Given the description of an element on the screen output the (x, y) to click on. 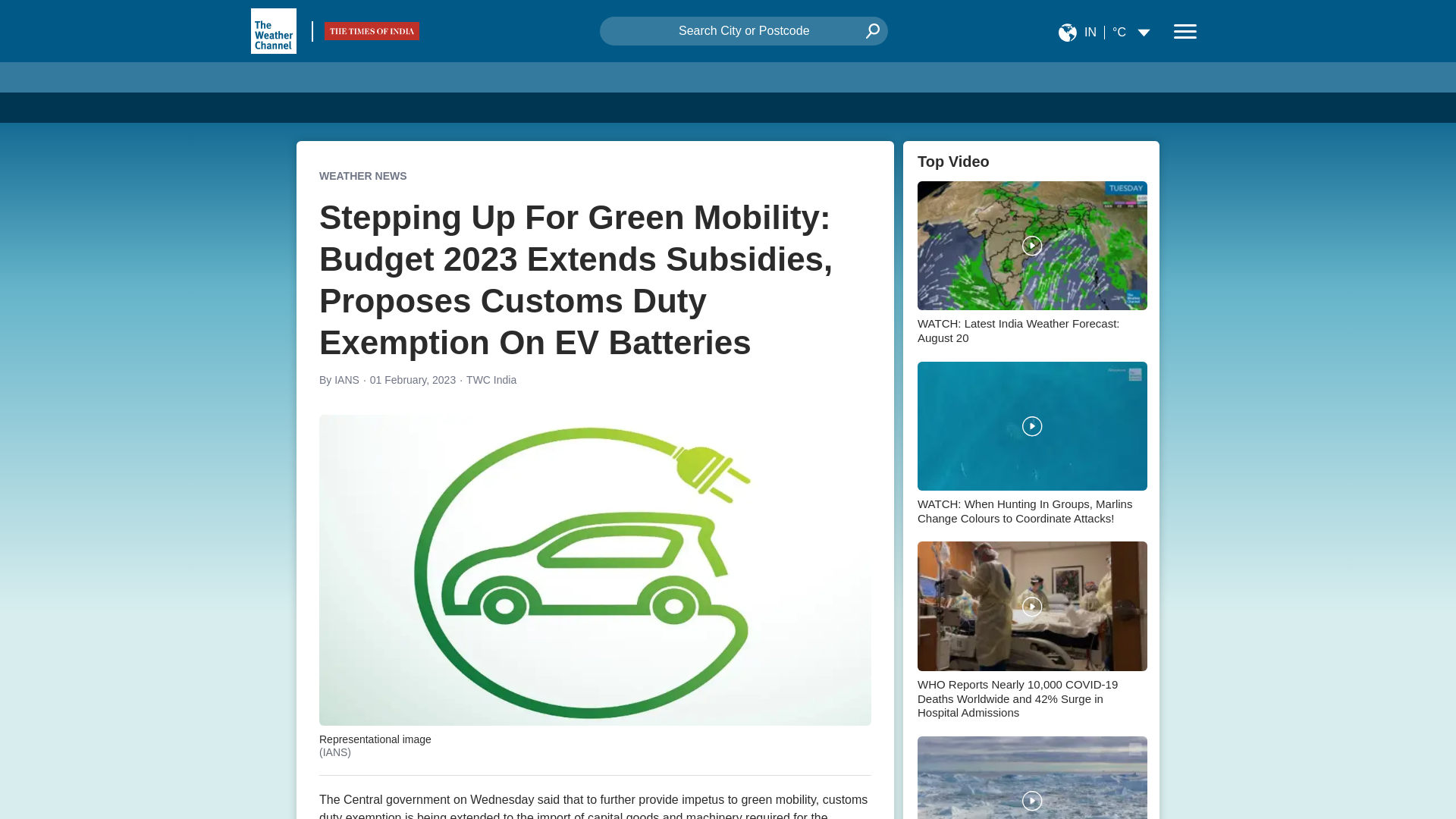
The Weather Channel (273, 31)
WATCH: Latest India Weather Forecast: August 20 (1032, 264)
The Weather Channel (273, 30)
